Given the description of an element on the screen output the (x, y) to click on. 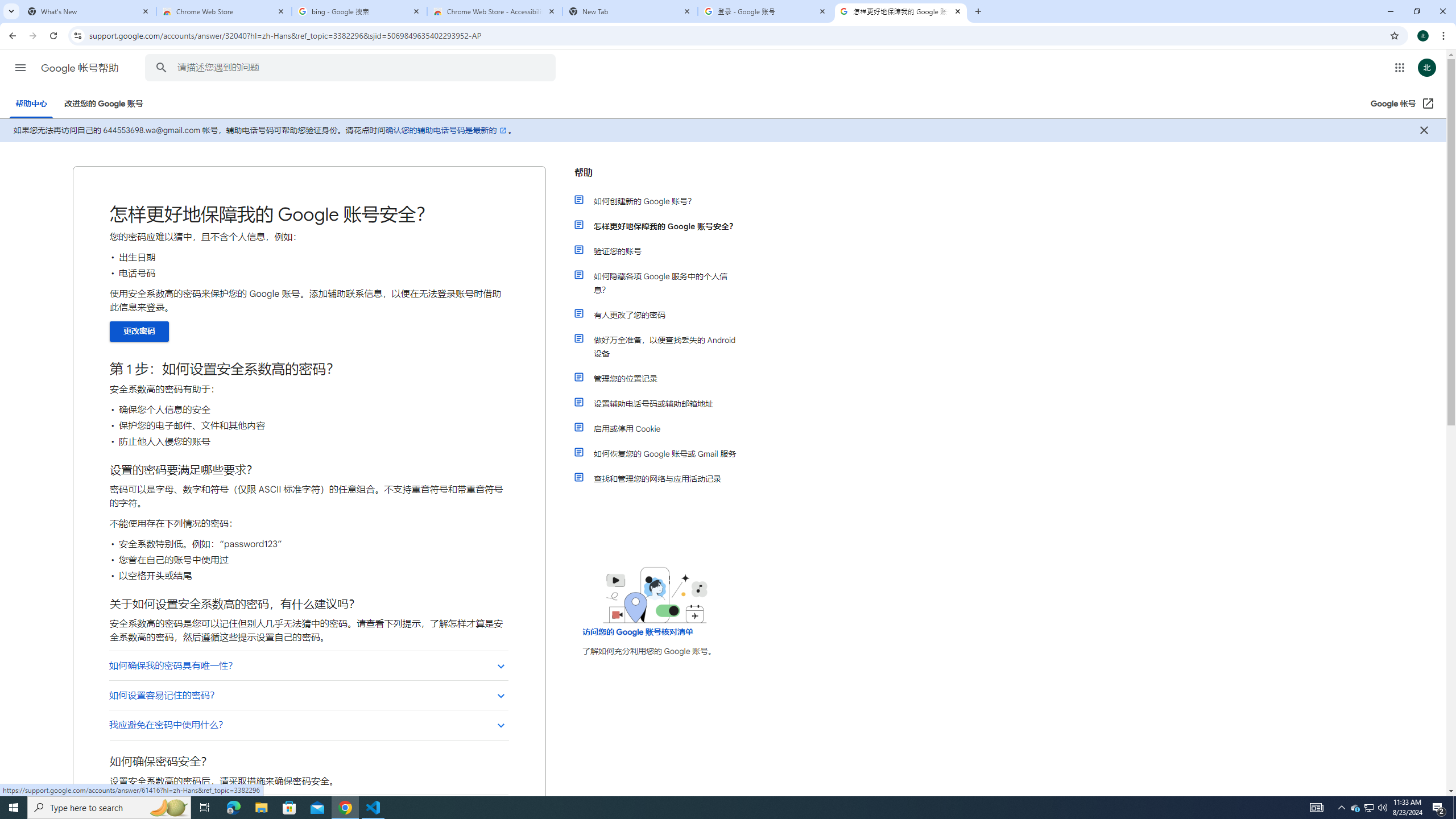
What's New (88, 11)
New Tab (630, 11)
